Given the description of an element on the screen output the (x, y) to click on. 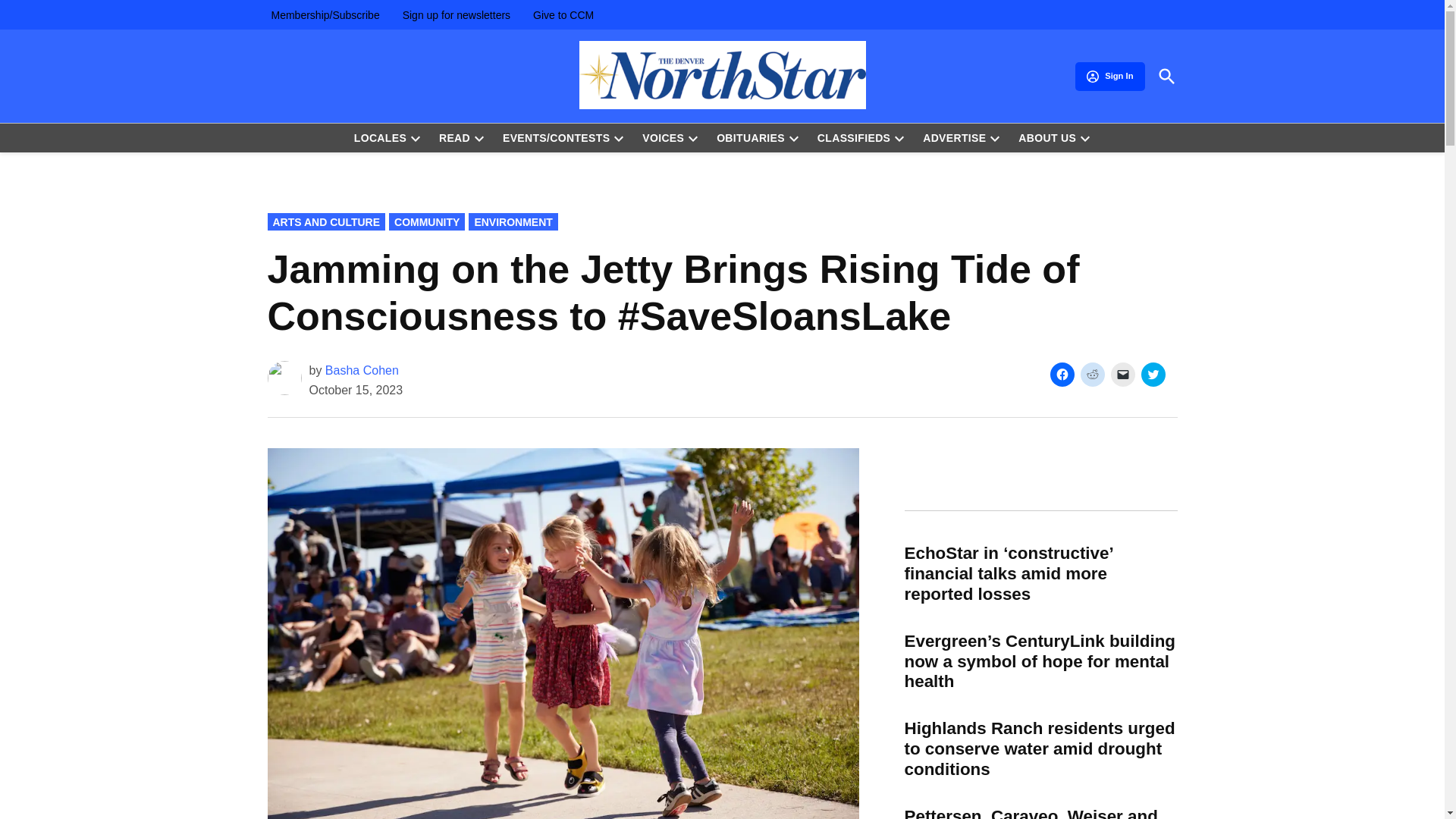
Click to email a link to a friend (1121, 374)
Click to share on Facebook (1061, 374)
Click to share on Reddit (1091, 374)
Click to share on Twitter (1152, 374)
